Given the description of an element on the screen output the (x, y) to click on. 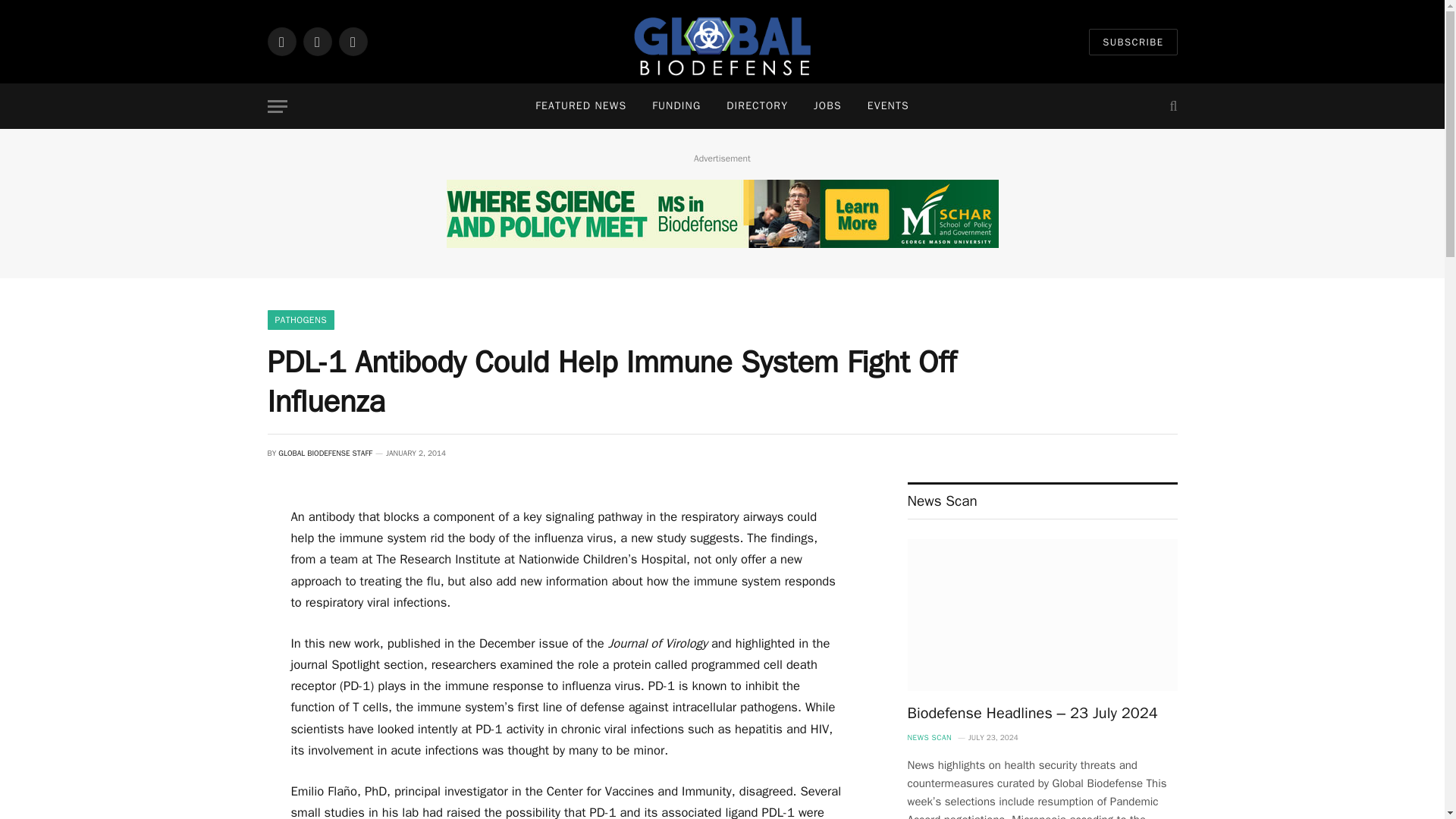
EVENTS (887, 105)
PATHOGENS (299, 320)
Facebook (280, 41)
Instagram (316, 41)
JOBS (827, 105)
DIRECTORY (756, 105)
GLOBAL BIODEFENSE STAFF (325, 452)
Global Biodefense (721, 41)
Threads (351, 41)
FUNDING (676, 105)
FEATURED NEWS (580, 105)
Biosecurity and Biodefense Jobs (827, 105)
SUBSCRIBE (1132, 41)
Posts by Global Biodefense Staff (325, 452)
